Given the description of an element on the screen output the (x, y) to click on. 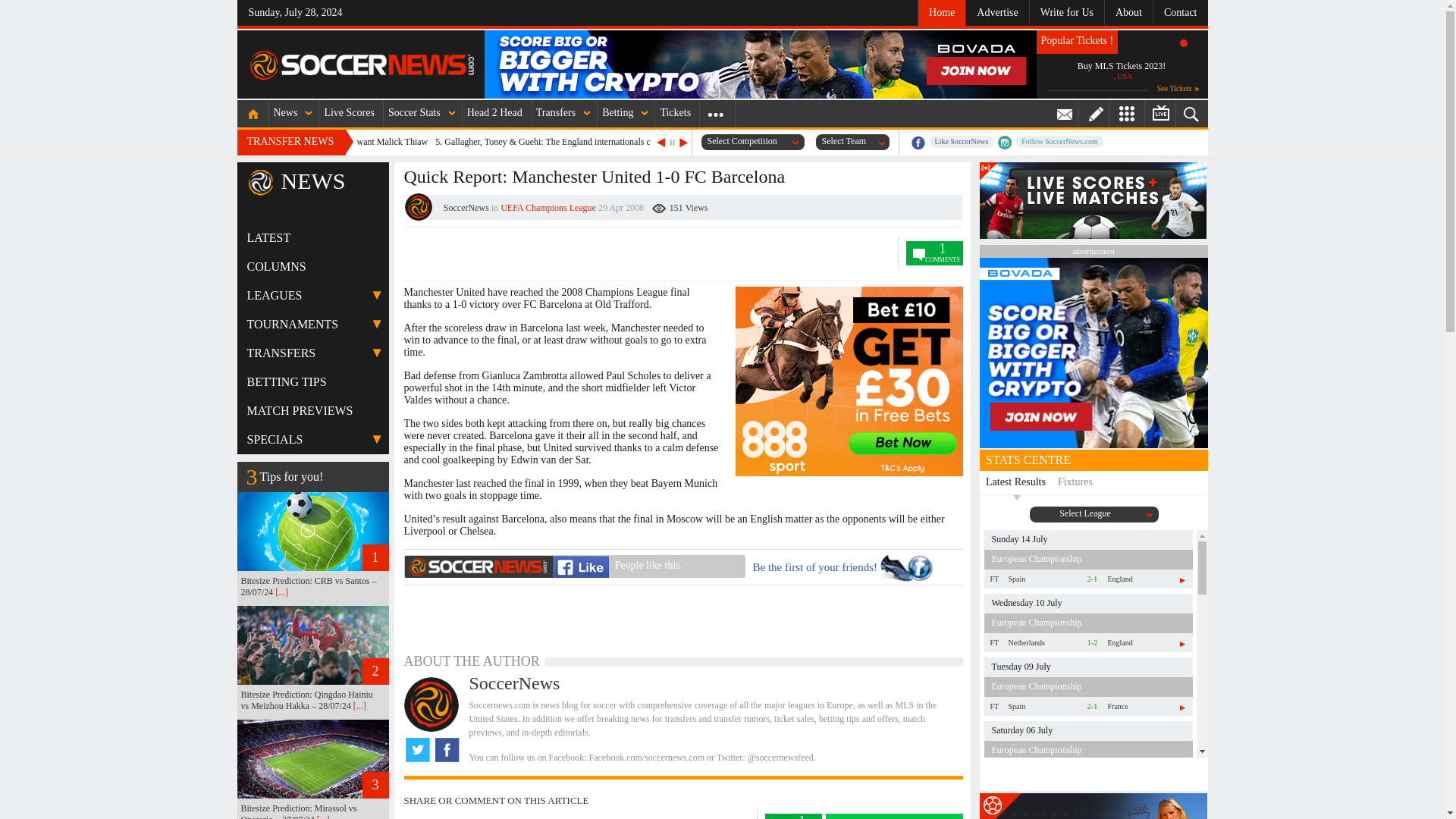
Betting (619, 112)
Transfers (557, 112)
Home (941, 12)
Home (251, 112)
See Tickets (1178, 88)
Scores (349, 112)
Stats (416, 112)
News (286, 112)
Soccer News (362, 65)
Tickets (676, 112)
More (715, 112)
